Given the description of an element on the screen output the (x, y) to click on. 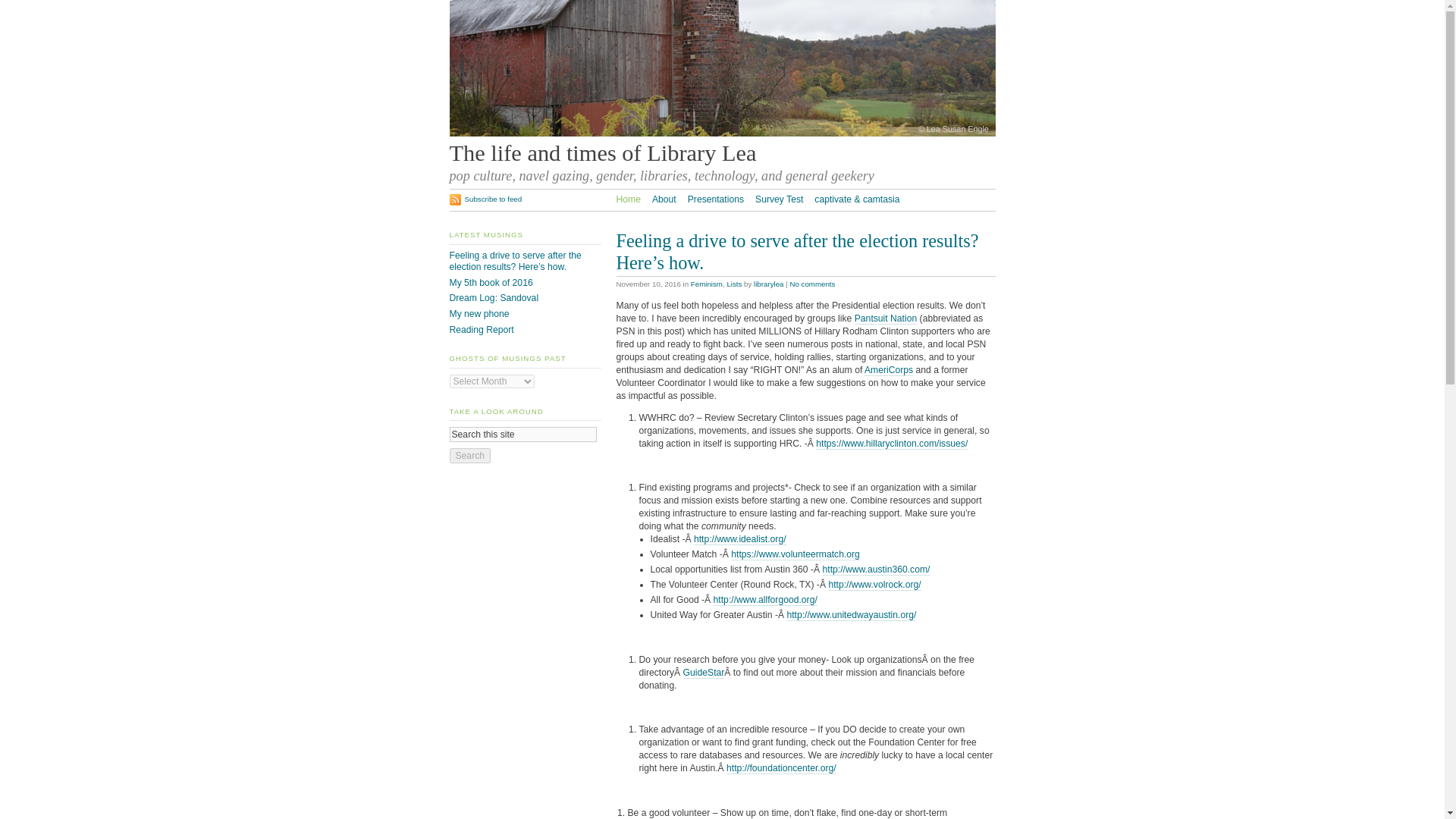
The life and times of Library Lea (601, 153)
Subscribe to feed (484, 199)
Home (627, 199)
Return to main page (721, 132)
GuideStar (703, 672)
Feminism (706, 284)
Presentations (715, 199)
Lists (733, 284)
About (664, 199)
No comments (811, 284)
Survey Test (779, 199)
Search (469, 455)
Pantsuit Nation (885, 318)
Return to main page (601, 153)
AmeriCorps (888, 369)
